Given the description of an element on the screen output the (x, y) to click on. 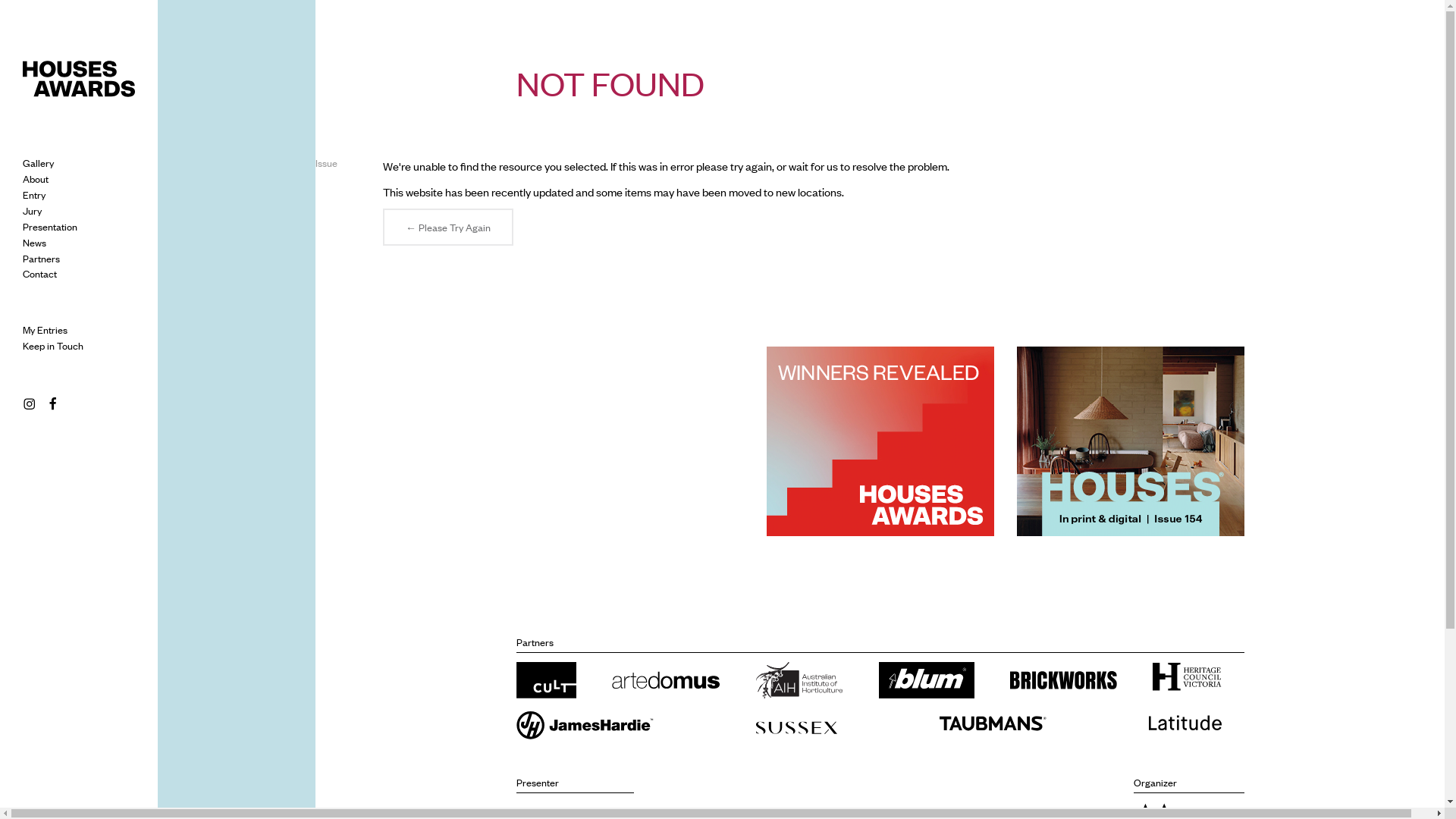
Contact Element type: text (39, 273)
3rd party ad content Element type: hover (629, 441)
Presentation Element type: text (49, 226)
Partners Element type: text (40, 258)
Jury Element type: text (31, 210)
Keep in Touch Element type: text (52, 345)
News Element type: text (34, 242)
Facebook Element type: text (54, 402)
Instagram Element type: text (30, 402)
Entry Element type: text (33, 194)
3rd party ad content Element type: hover (879, 441)
3rd party ad content Element type: hover (1129, 441)
Gallery Element type: text (37, 162)
My Entries Element type: text (44, 329)
About Element type: text (35, 178)
